Given the description of an element on the screen output the (x, y) to click on. 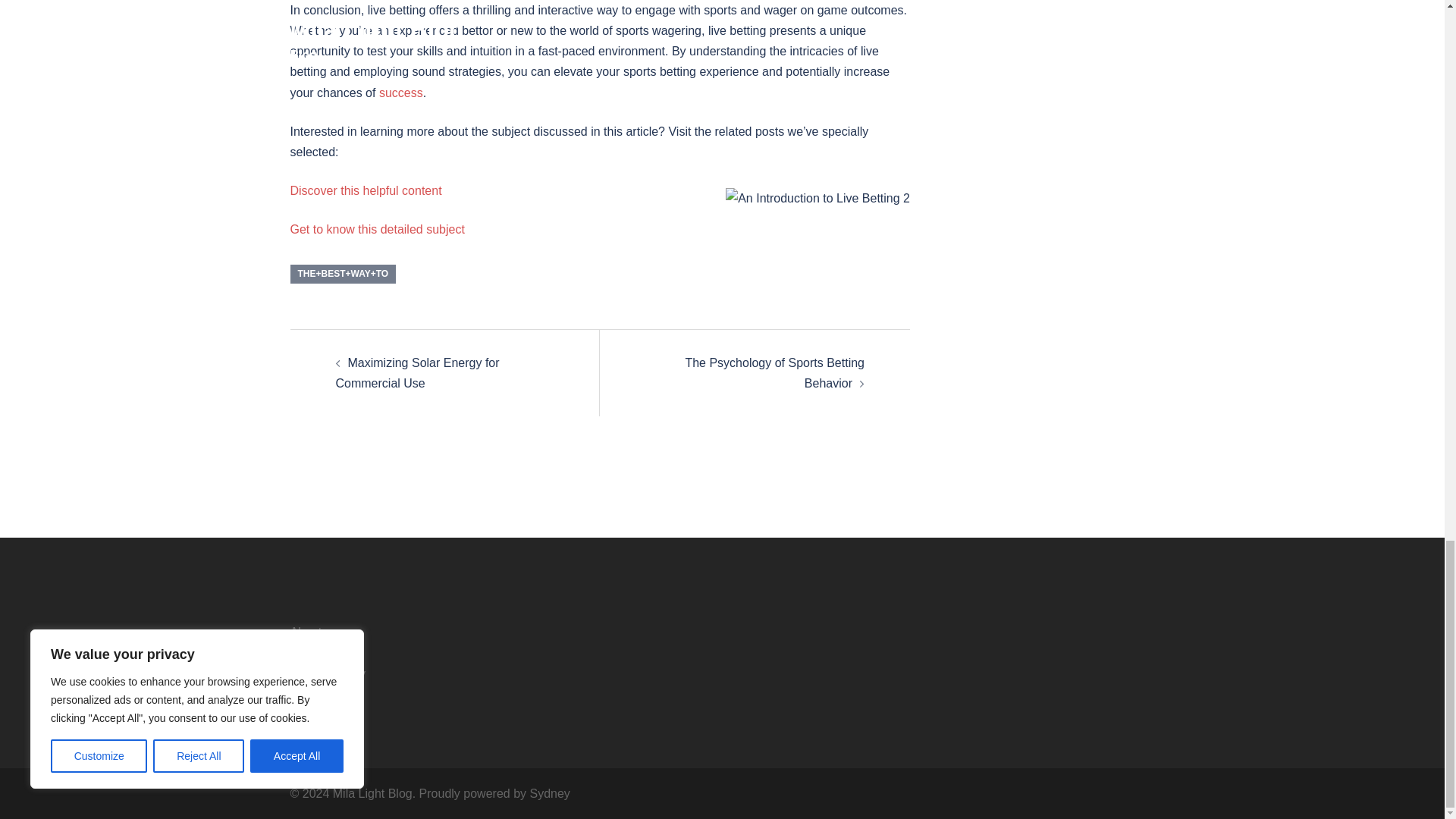
Get to know this detailed subject (376, 228)
success (400, 92)
The Psychology of Sports Betting Behavior (774, 372)
Discover this helpful content (365, 190)
Maximizing Solar Energy for Commercial Use (416, 372)
